Given the description of an element on the screen output the (x, y) to click on. 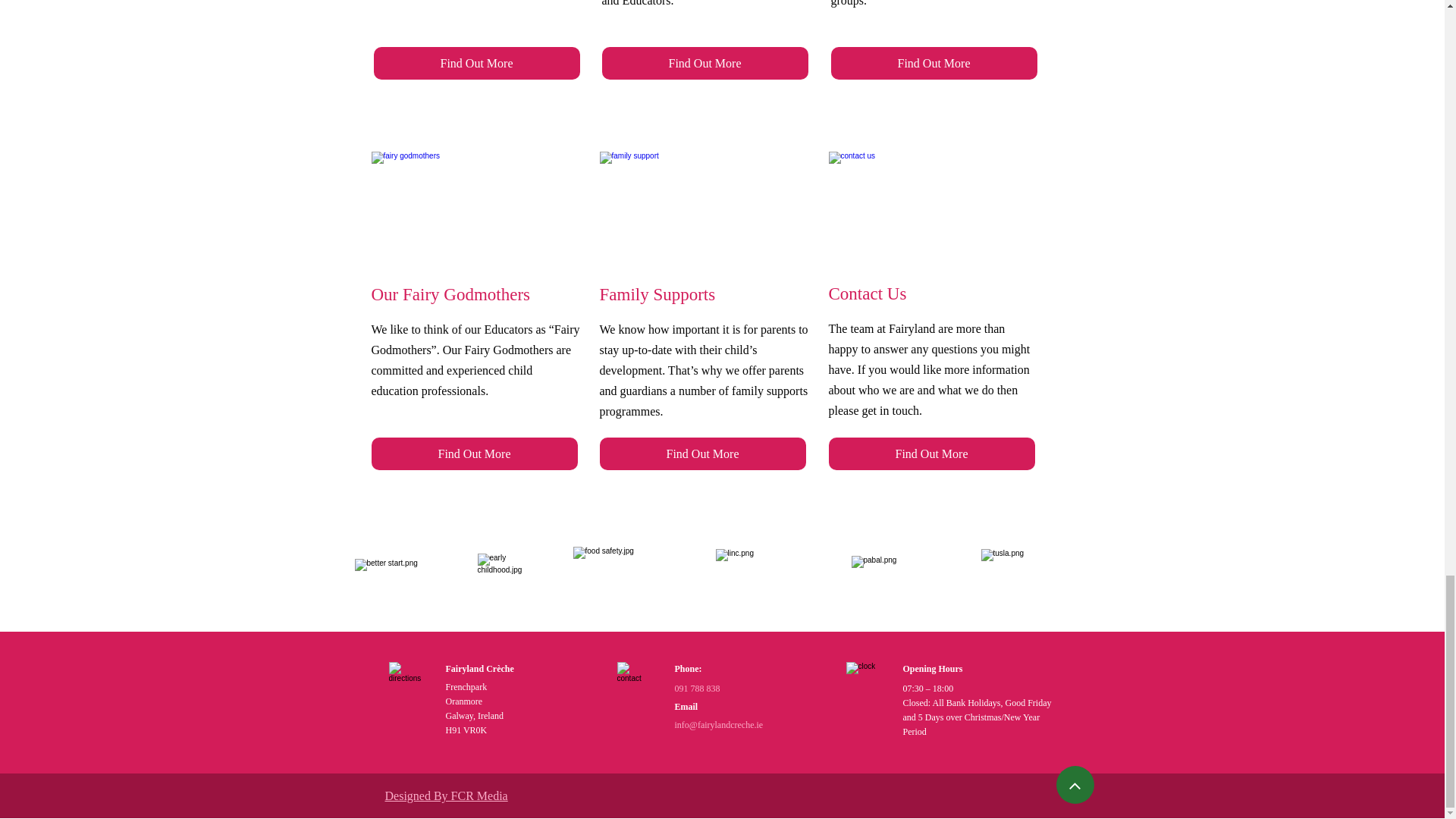
Find Out More (933, 62)
Find Out More (475, 62)
Find Out More (705, 62)
